Given the description of an element on the screen output the (x, y) to click on. 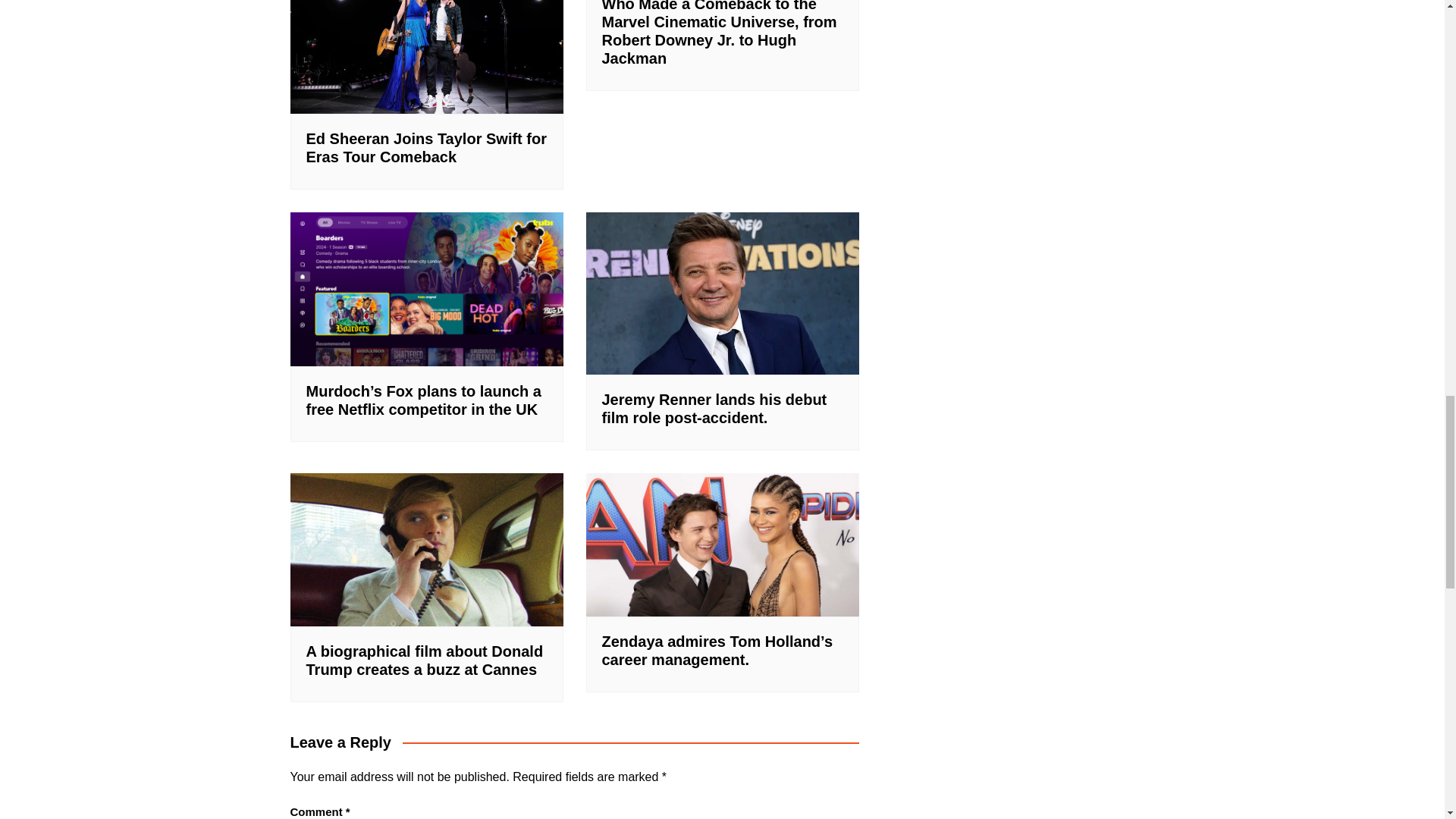
Ed Sheeran Joins Taylor Swift for Eras Tour Comeback (426, 147)
Jeremy Renner lands his debut film role post-accident. (714, 408)
